Given the description of an element on the screen output the (x, y) to click on. 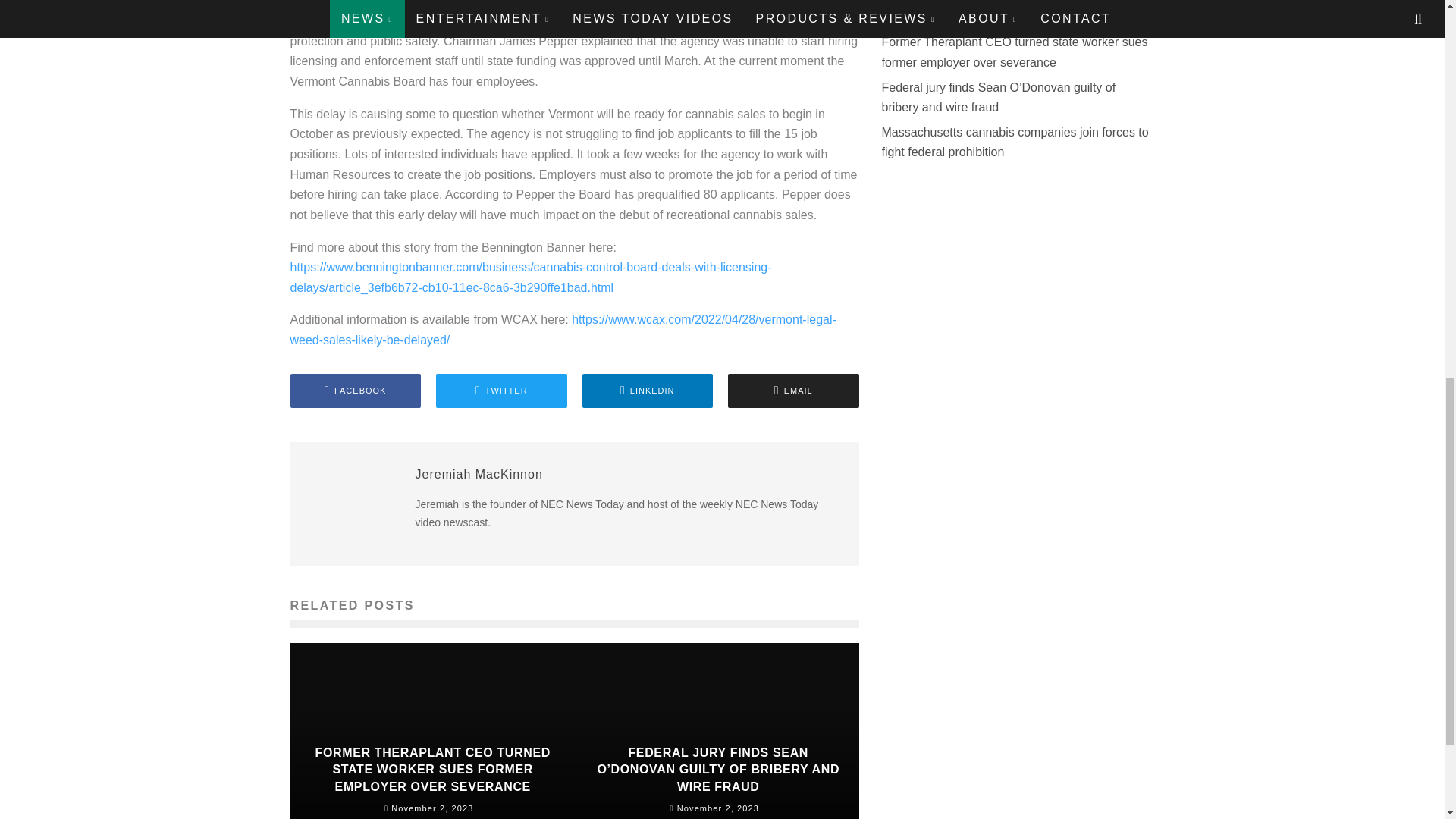
LINKEDIN (647, 390)
Jeremiah MacKinnon (478, 473)
TWITTER (501, 390)
EMAIL (793, 390)
FACEBOOK (354, 390)
